Given the description of an element on the screen output the (x, y) to click on. 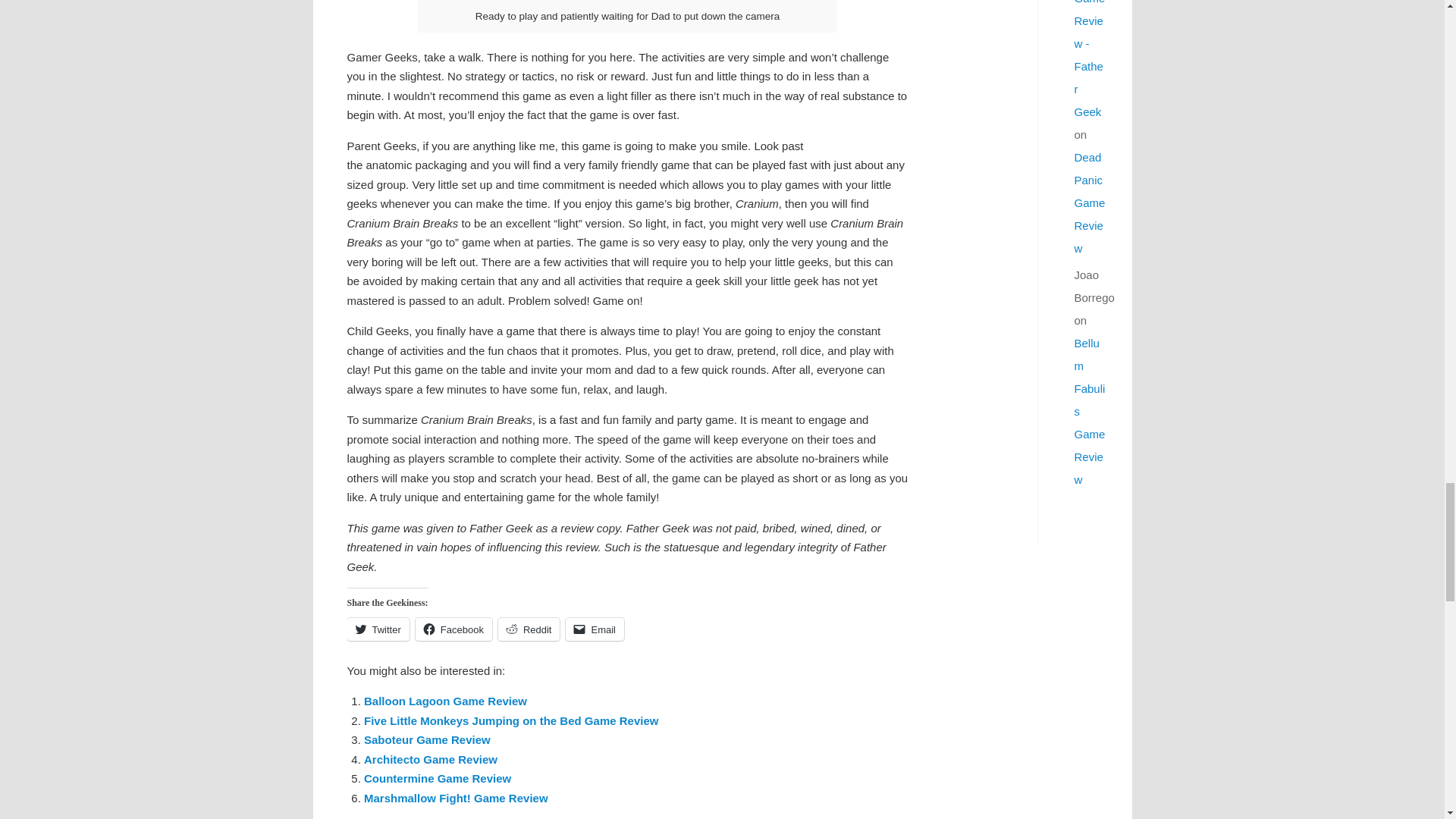
Reddit (528, 629)
Click to share on Facebook (453, 629)
Saboteur Game Review (427, 739)
Five Little Monkeys Jumping on the Bed Game Review (511, 720)
Twitter (378, 629)
Email (595, 629)
Click to share on Reddit (528, 629)
Balloon Lagoon Game Review (445, 700)
Architecto Game Review (430, 758)
Five Little Monkeys Jumping on the Bed Game Review (511, 720)
